Given the description of an element on the screen output the (x, y) to click on. 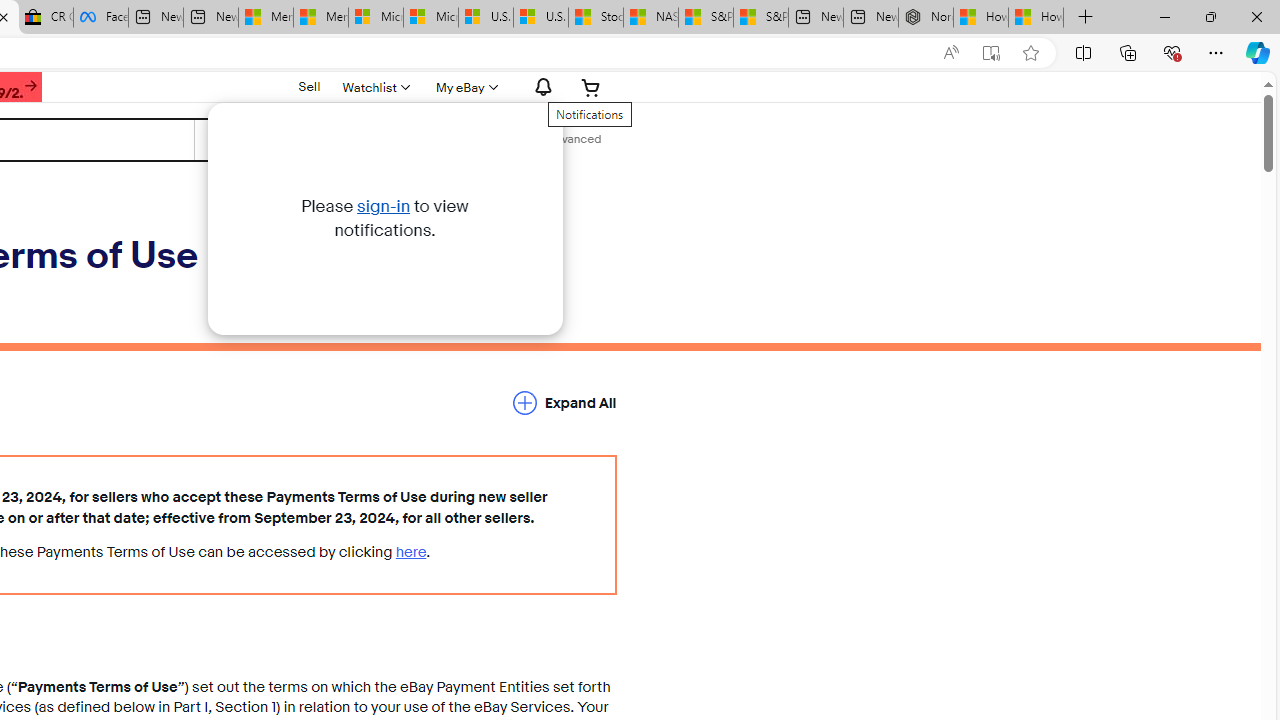
Your shopping cart (591, 87)
Please sign-in to view notifications. (384, 218)
Select a category for search (274, 139)
